Given the description of an element on the screen output the (x, y) to click on. 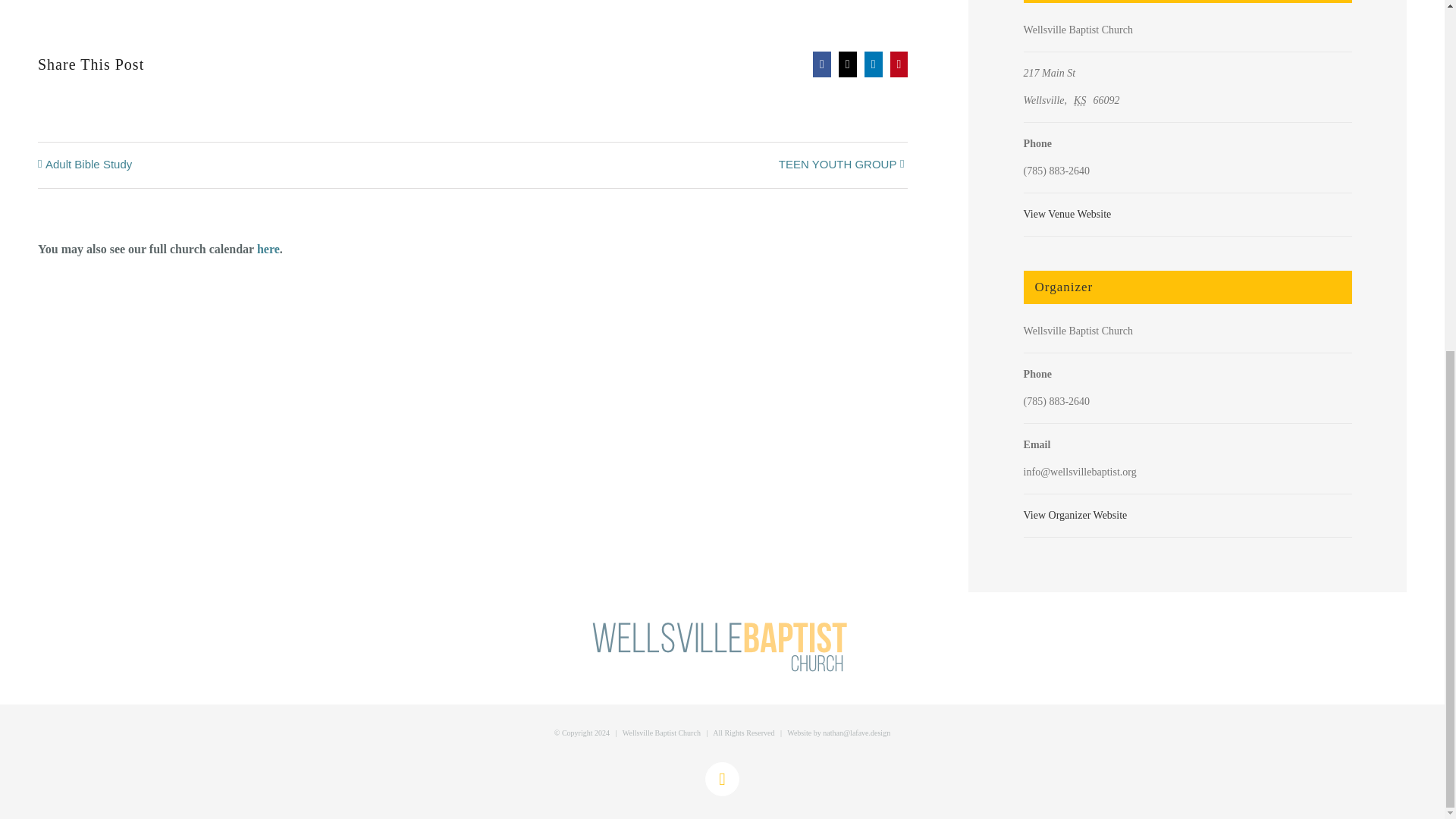
Kansas (1082, 100)
Facebook (721, 779)
